Given the description of an element on the screen output the (x, y) to click on. 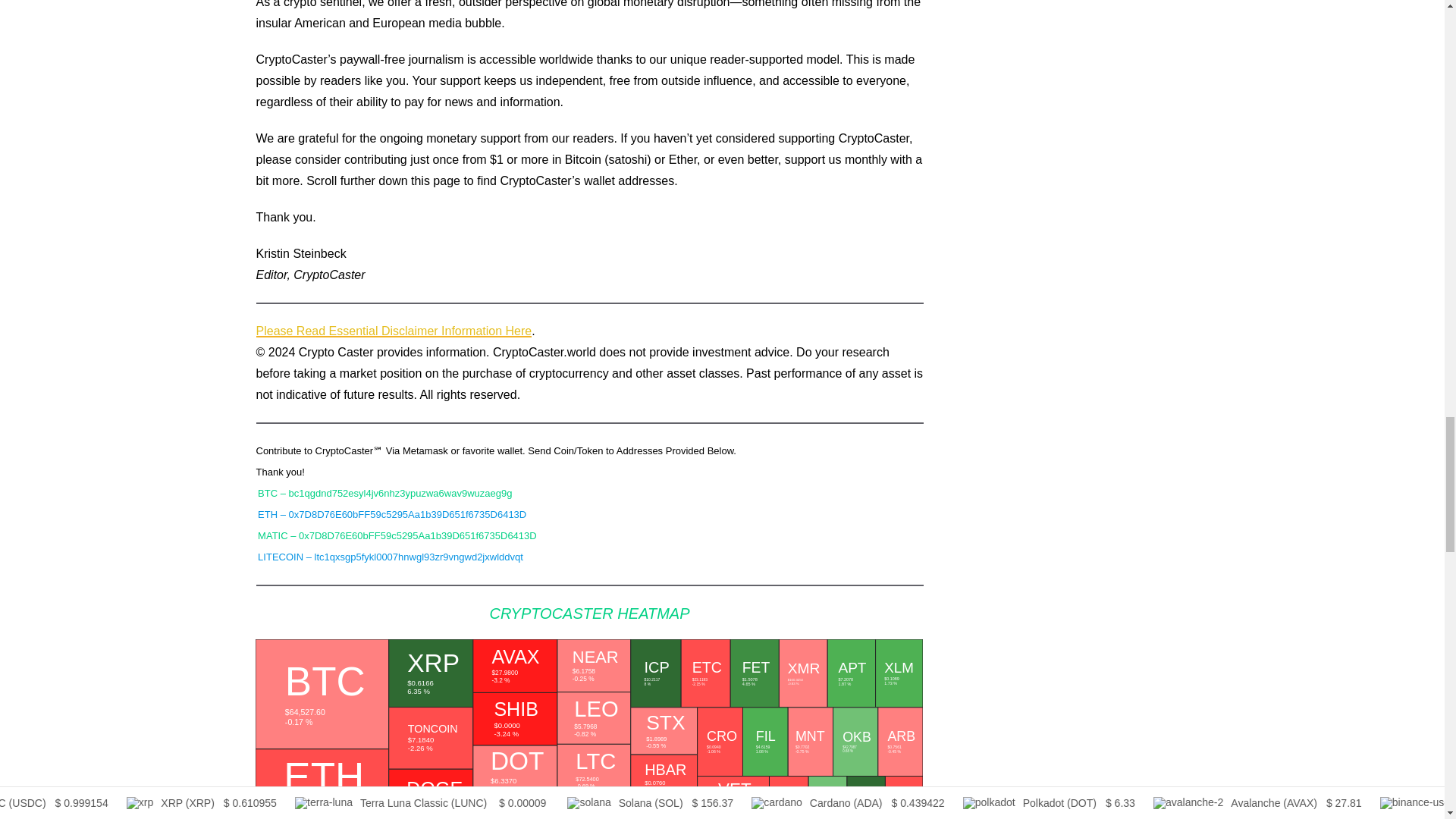
Please Read Essential Disclaimer Information Here (394, 330)
